Given the description of an element on the screen output the (x, y) to click on. 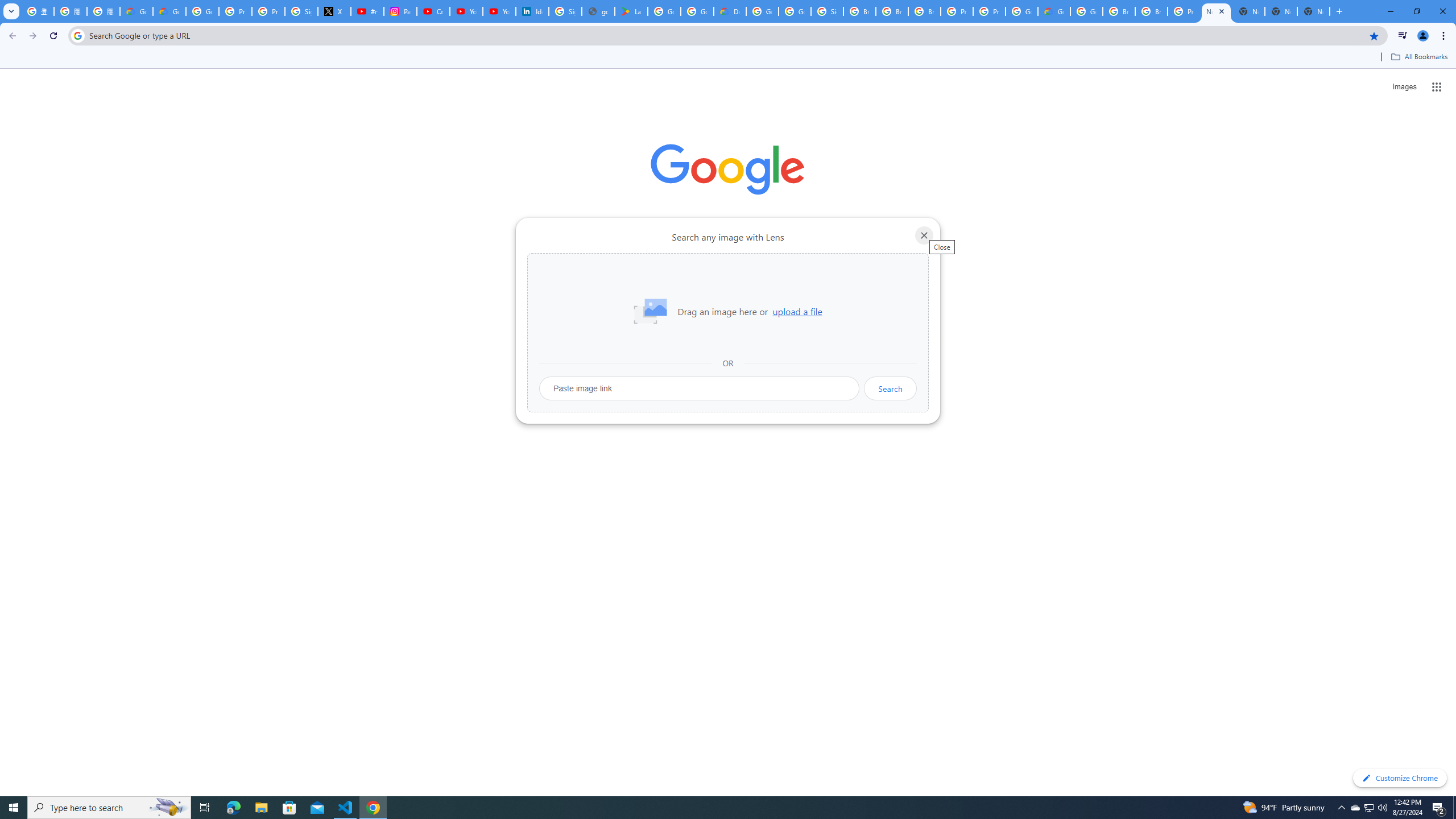
Last Shelter: Survival - Apps on Google Play (631, 11)
Privacy Help Center - Policies Help (268, 11)
New Tab (1216, 11)
You (1422, 35)
Search (890, 388)
Google apps (1436, 86)
Google Cloud Estimate Summary (1053, 11)
Reload (52, 35)
upload a file (796, 311)
